Given the description of an element on the screen output the (x, y) to click on. 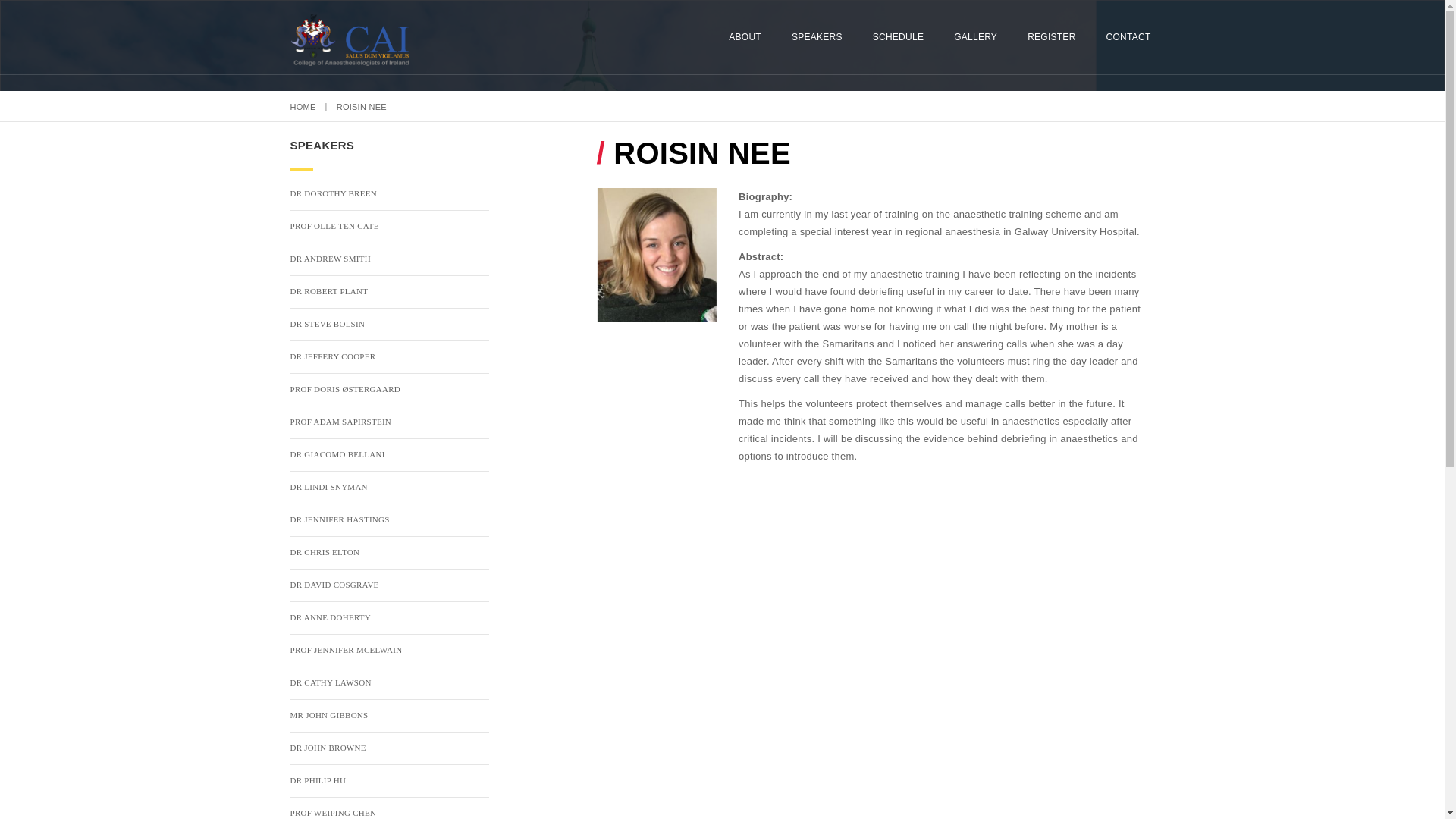
PROF WEIPING CHEN (389, 812)
DR DAVID COSGRAVE (389, 589)
REGISTER (1051, 37)
DR ROBERT PLANT (389, 295)
DR JOHN BROWNE (389, 752)
DR ANNE DOHERTY (389, 621)
SPEAKERS (817, 37)
DR PHILIP HU (389, 785)
GALLERY (975, 37)
DR GIACOMO BELLANI (389, 458)
DR STEVE BOLSIN (389, 328)
SCHEDULE (897, 37)
HOME (302, 106)
CONTACT (1128, 37)
PROF ADAM SAPIRSTEIN (389, 426)
